Given the description of an element on the screen output the (x, y) to click on. 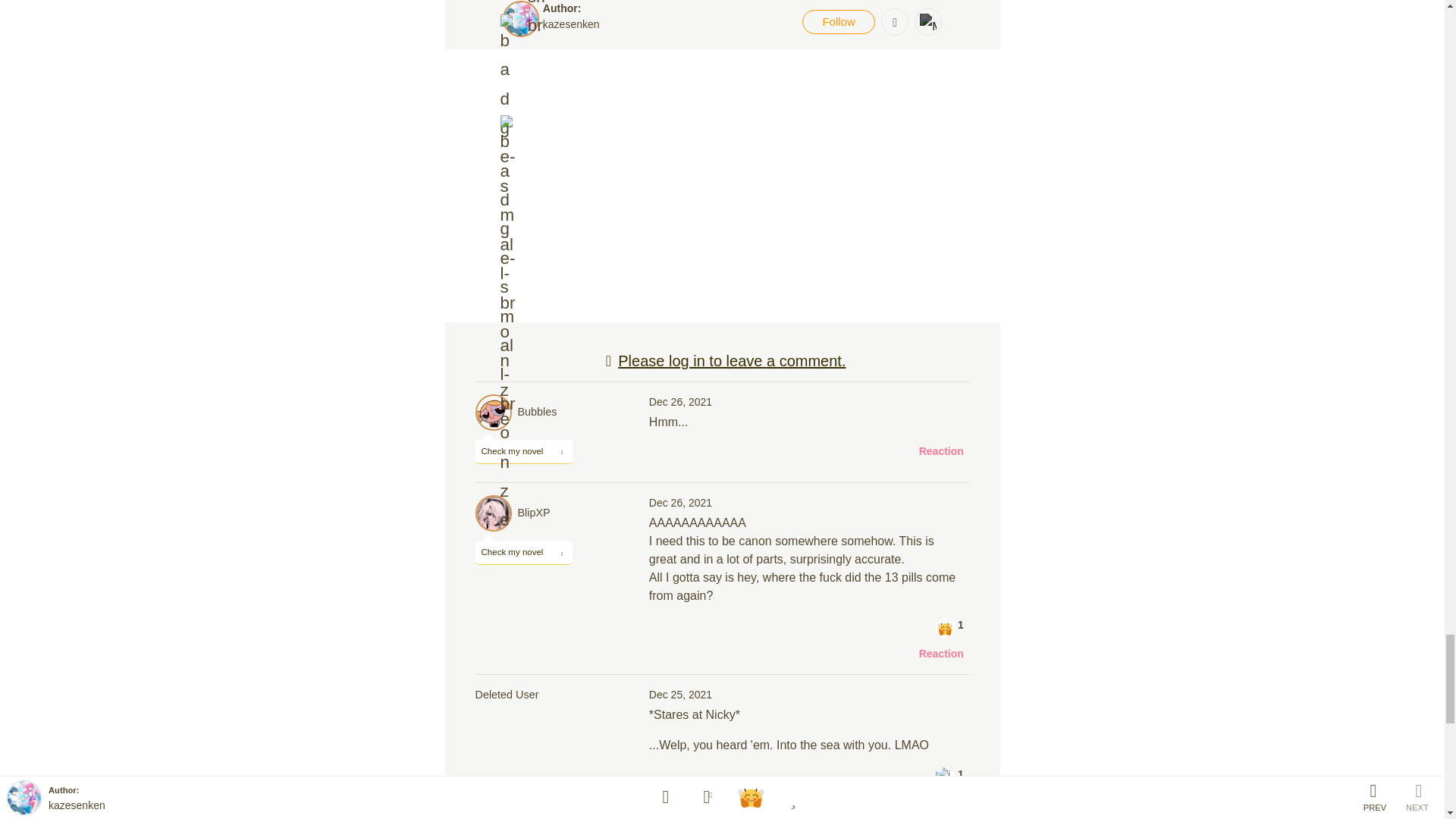
kazesenken (571, 24)
Please log in to leave a comment. (721, 360)
translation missing: en.common.author: (561, 8)
Reaction (940, 451)
Dec 26, 2021 (680, 401)
Follow (838, 21)
